Given the description of an element on the screen output the (x, y) to click on. 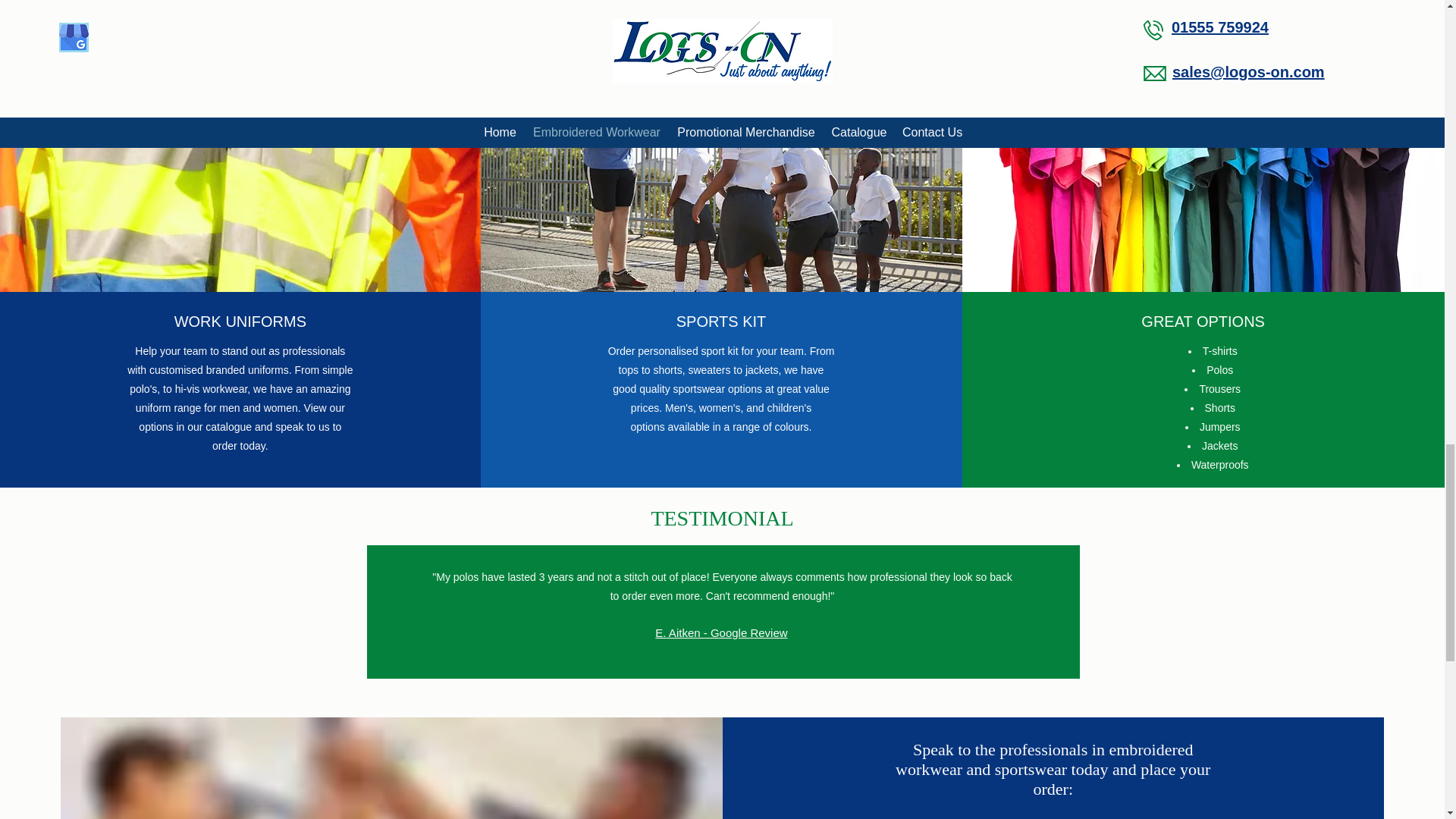
E. Aitken - Google Review (721, 632)
